Given the description of an element on the screen output the (x, y) to click on. 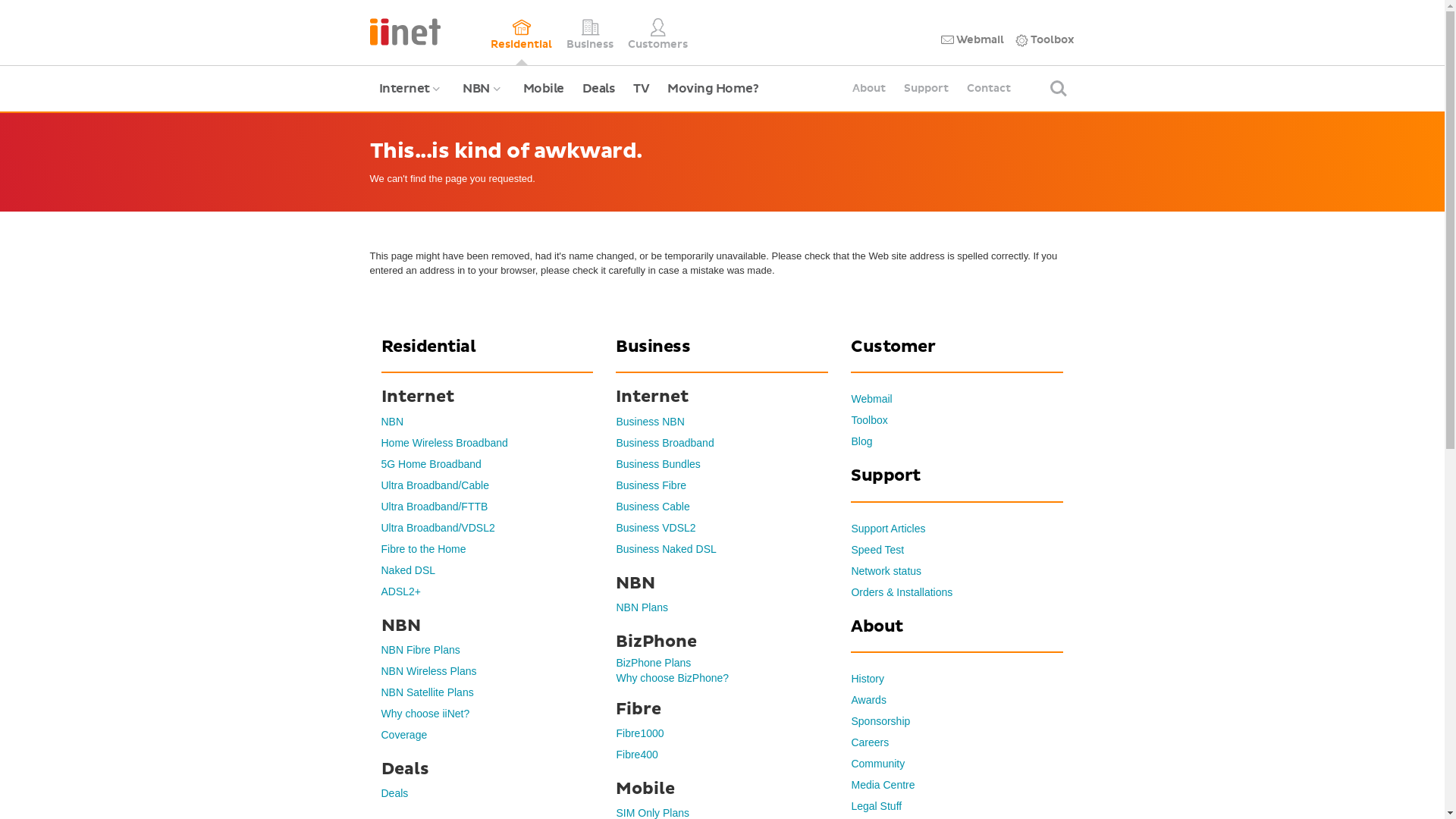
BizPhone Plans Element type: text (652, 662)
Customers Element type: text (657, 32)
Skip to main content Element type: text (0, 0)
NBN Element type: text (391, 421)
Webmail Element type: text (972, 40)
Naked DSL Element type: text (407, 570)
Deals Element type: text (598, 88)
About Element type: text (868, 88)
Ultra Broadband/Cable Element type: text (434, 485)
Residential Element type: text (521, 32)
Why choose BizPhone? Element type: text (671, 677)
TV Element type: text (641, 88)
Orders & Installations Element type: text (901, 592)
Business Fibre Element type: text (650, 485)
NBN Plans Element type: text (641, 607)
Support Element type: text (925, 88)
History Element type: text (867, 678)
Ultra Broadband/VDSL2 Element type: text (437, 527)
Business Naked DSL Element type: text (665, 548)
Community Element type: text (877, 763)
Business VDSL2 Element type: text (655, 527)
Awards Element type: text (867, 699)
Careers Element type: text (869, 742)
Home Wireless Broadband Element type: text (443, 442)
Network status Element type: text (885, 570)
NBN Wireless Plans Element type: text (428, 671)
ADSL2+ Element type: text (400, 591)
Fibre to the Home Element type: text (422, 548)
Legal Stuff Element type: text (875, 806)
Toolbox Element type: text (1044, 40)
Business Cable Element type: text (652, 506)
Sponsorship Element type: text (880, 721)
Support Articles Element type: text (887, 528)
Moving Home? Element type: text (712, 88)
Blog Element type: text (861, 441)
Business NBN Element type: text (649, 421)
Deals Element type: text (393, 793)
Coverage Element type: text (403, 734)
NBN Satellite Plans Element type: text (426, 692)
iiNet logo Element type: hover (405, 30)
Mobile Element type: text (543, 88)
Media Centre Element type: text (882, 784)
5G Home Broadband Element type: text (430, 464)
Speed Test Element type: text (876, 549)
Why choose iiNet? Element type: text (424, 713)
Fibre400 Element type: text (636, 754)
Business Broadband Element type: text (664, 442)
Ultra Broadband/FTTB Element type: text (433, 506)
Webmail Element type: text (870, 398)
NBN Fibre Plans Element type: text (419, 649)
Contact Element type: text (988, 88)
Business Element type: text (589, 32)
Business Bundles Element type: text (657, 464)
Fibre1000 Element type: text (639, 733)
Toolbox Element type: text (868, 420)
